Given the description of an element on the screen output the (x, y) to click on. 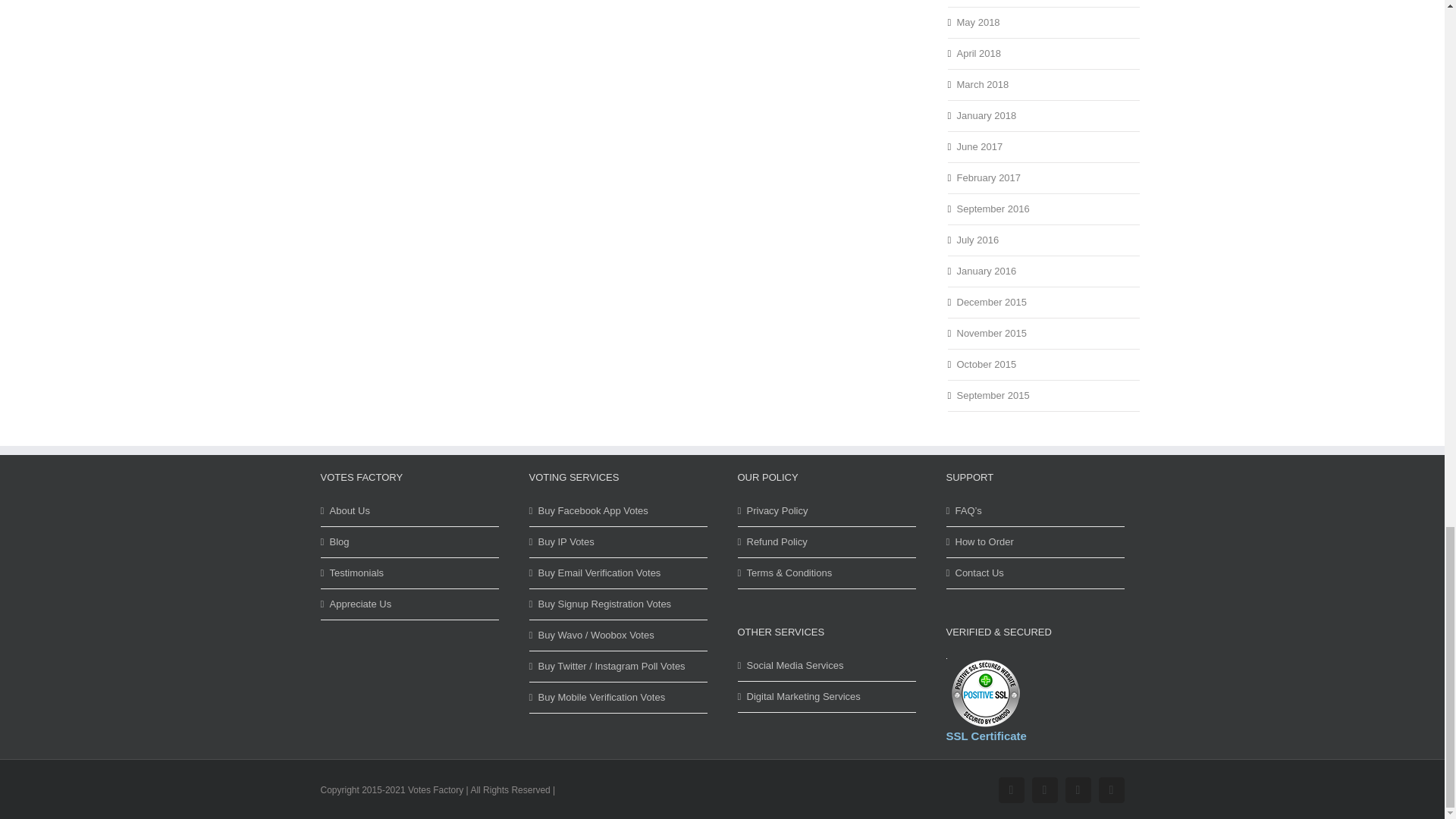
SSL Certificate (985, 693)
